Given the description of an element on the screen output the (x, y) to click on. 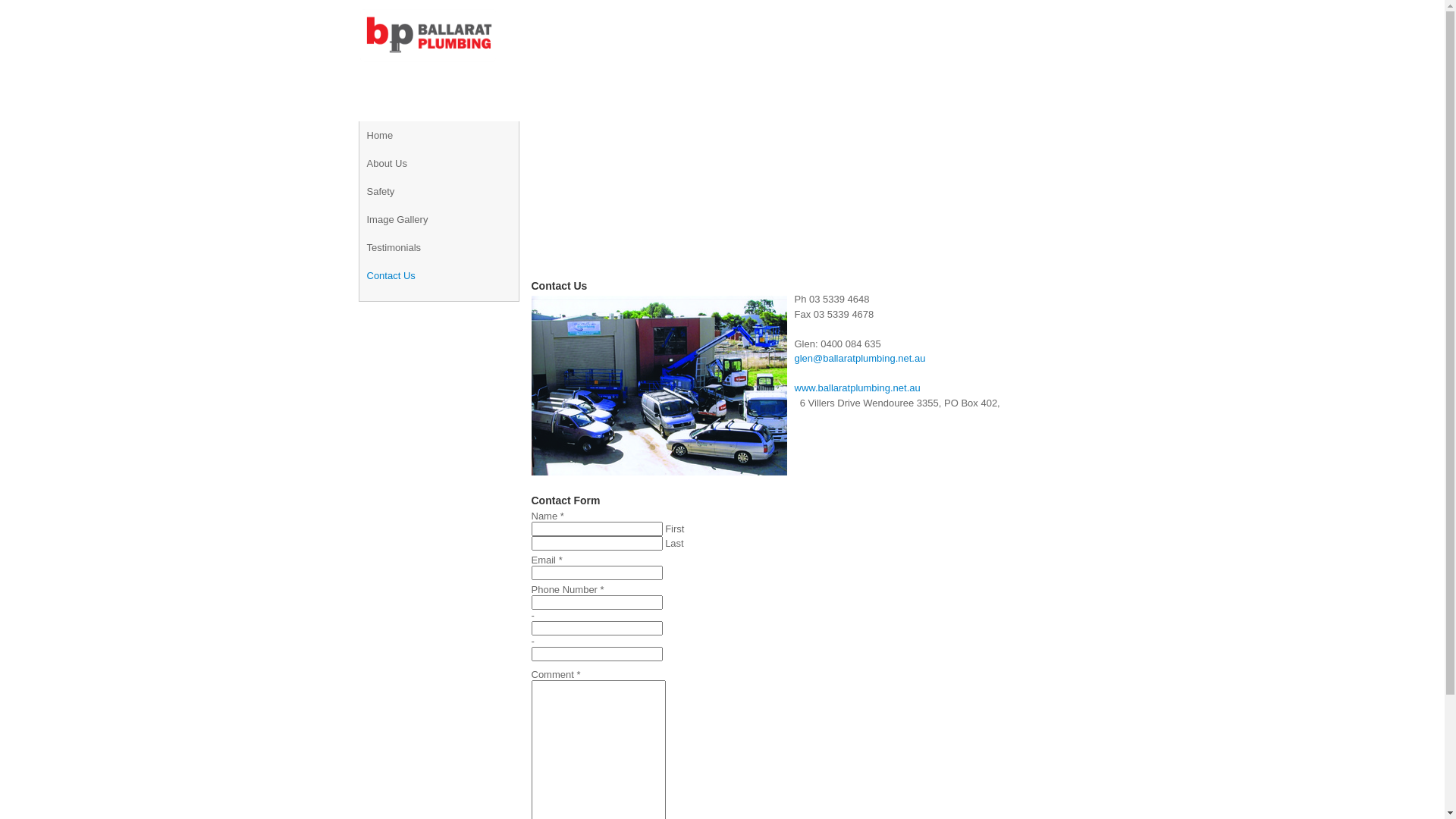
Contact Us Element type: text (391, 275)
Image Gallery Element type: text (397, 219)
glen@ballaratplumbing.net.au Element type: text (859, 358)
About Us Element type: text (387, 163)
Safety Element type: text (381, 191)
Testimonials Element type: text (394, 247)
Home Element type: text (380, 135)
www.ballaratplumbing.net.au Element type: text (857, 387)
